Given the description of an element on the screen output the (x, y) to click on. 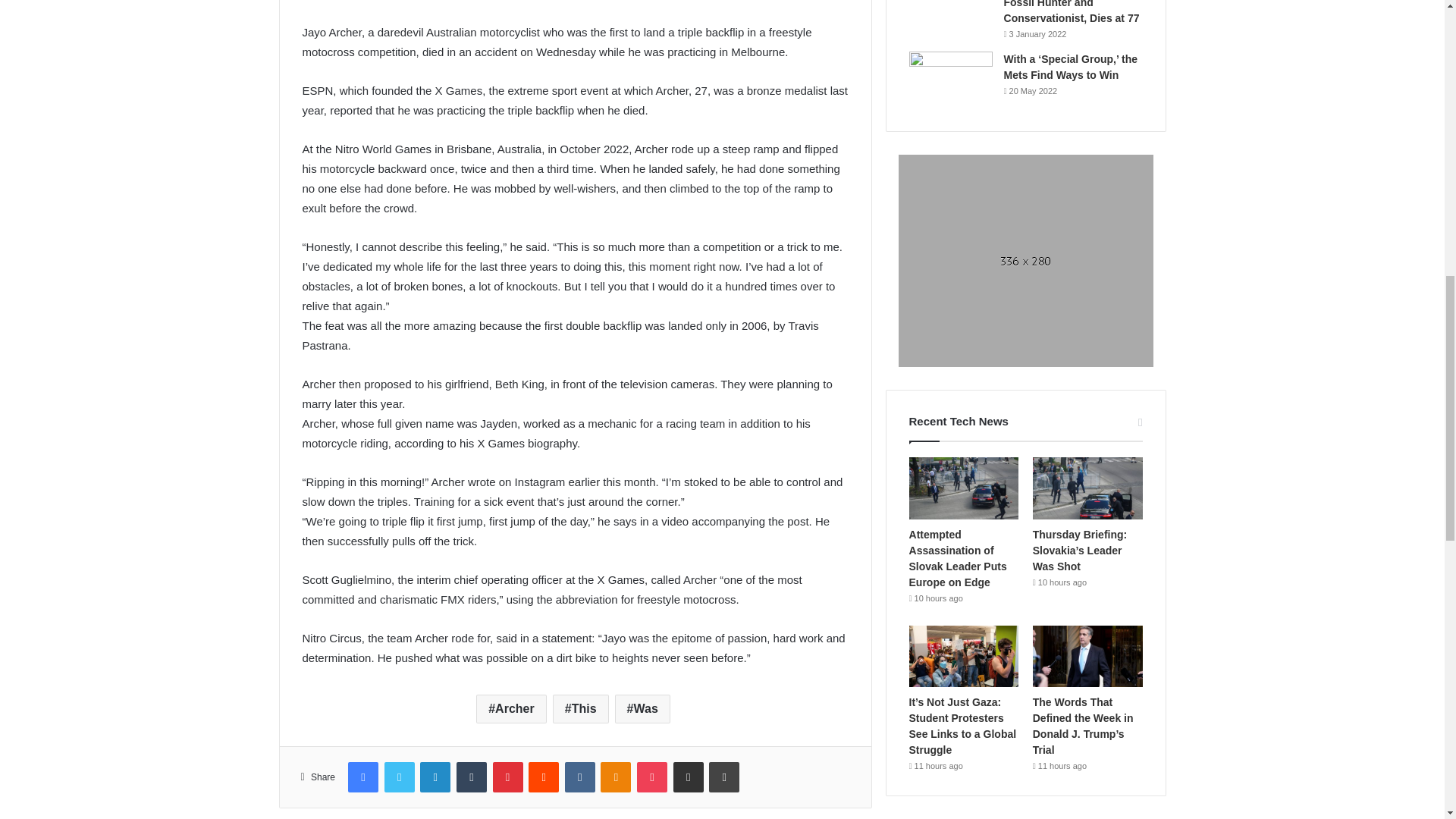
LinkedIn (434, 777)
This (580, 708)
Pinterest (507, 777)
Was (641, 708)
Tumblr (471, 777)
Facebook (362, 777)
Twitter (399, 777)
Archer (511, 708)
